Given the description of an element on the screen output the (x, y) to click on. 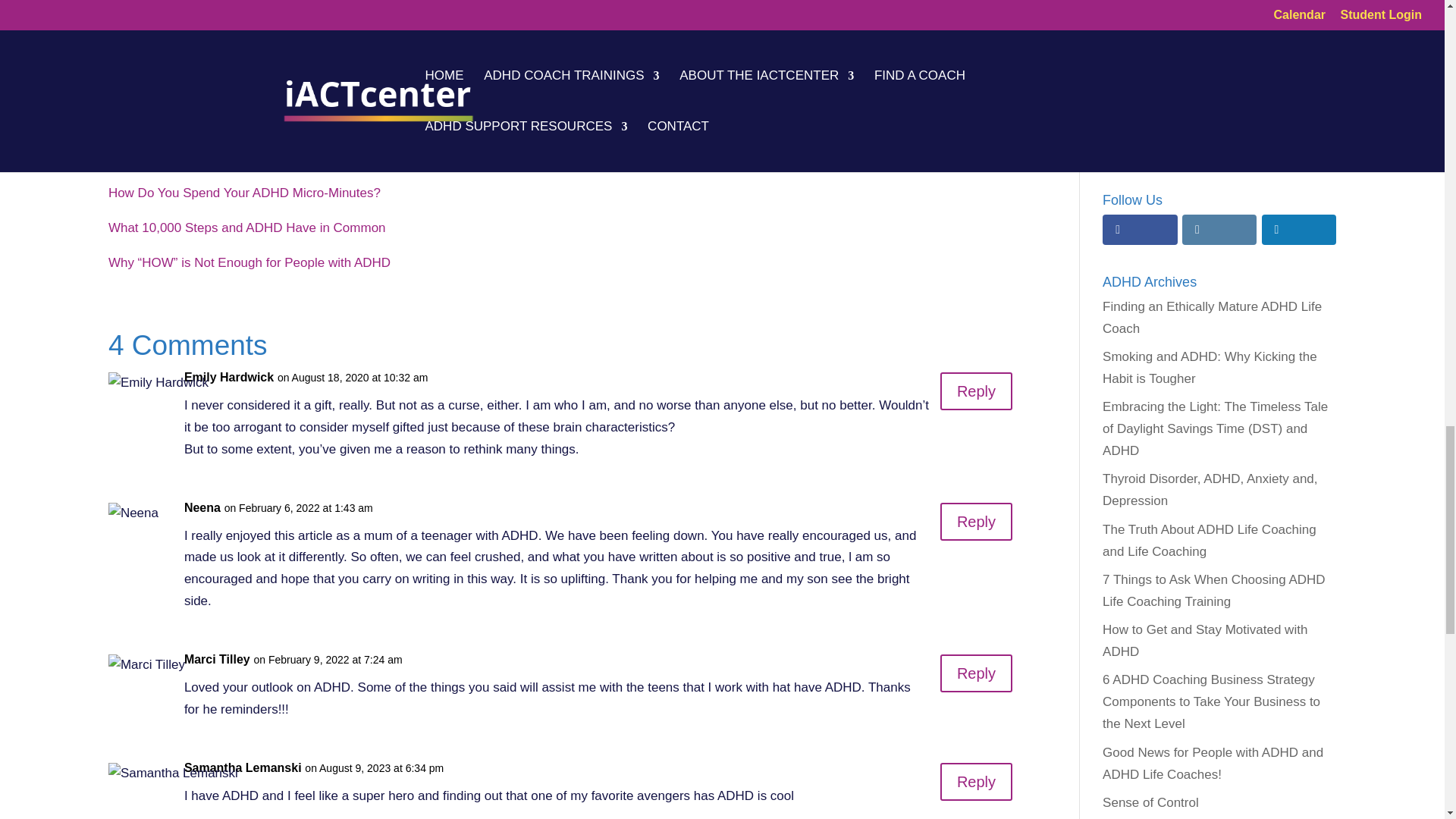
Explore the Training (1216, 81)
